Given the description of an element on the screen output the (x, y) to click on. 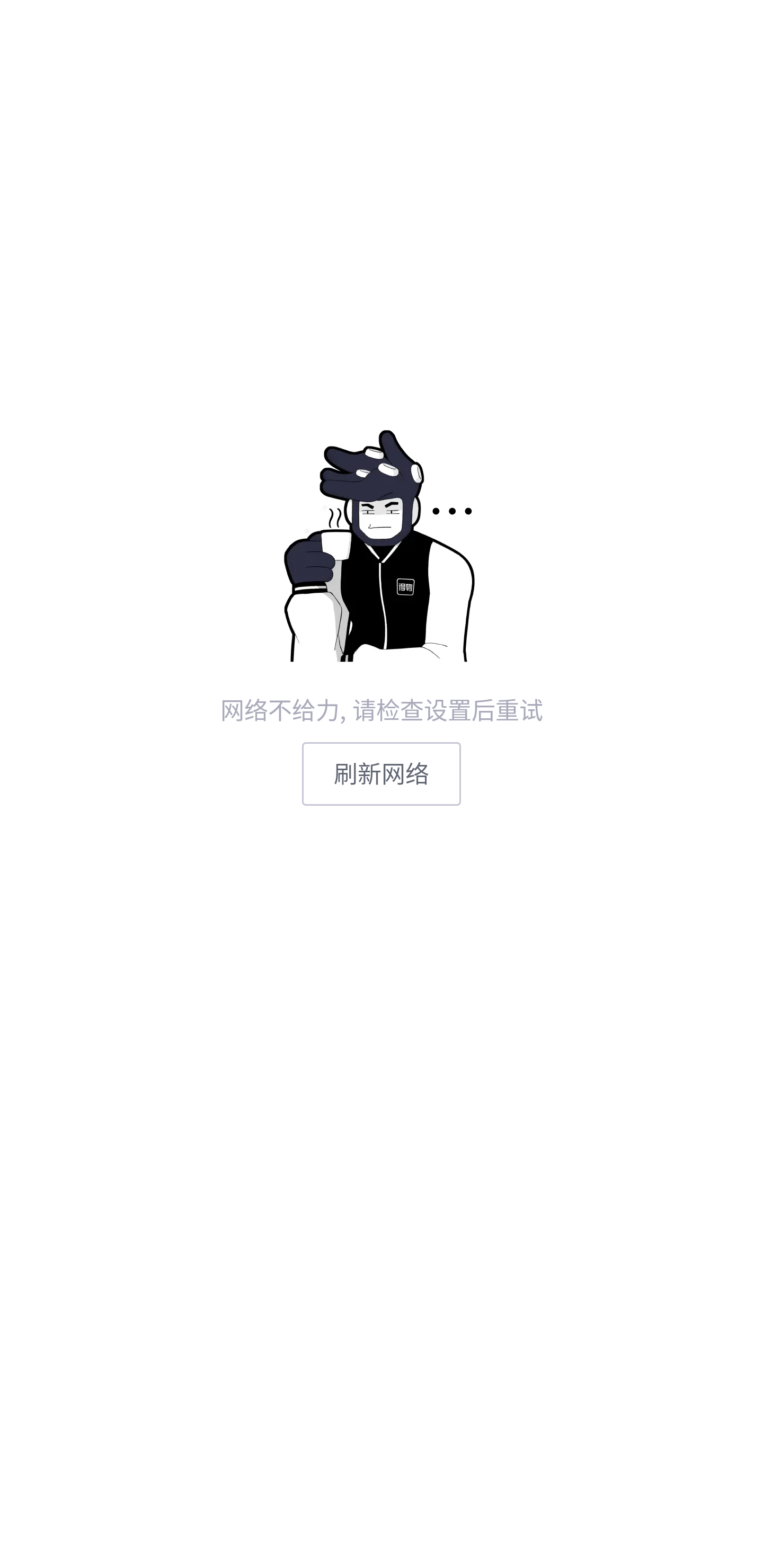
刷新网络 (381, 773)
